Given the description of an element on the screen output the (x, y) to click on. 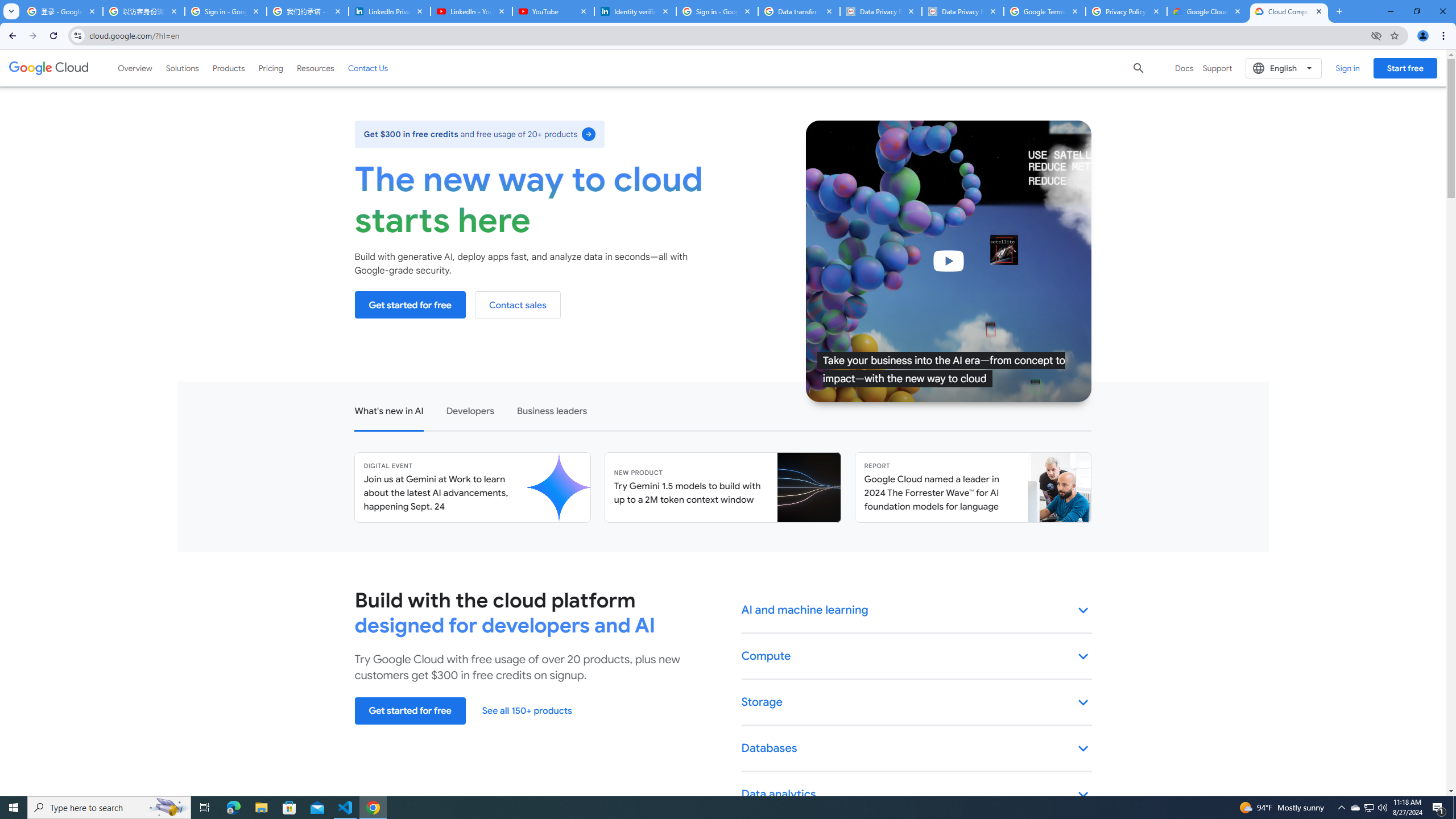
Solutions (181, 67)
What's new in AI (388, 409)
Pricing (270, 67)
Sign in - Google Accounts (225, 11)
Compute keyboard_arrow_down (916, 656)
Business leaders (552, 409)
